Given the description of an element on the screen output the (x, y) to click on. 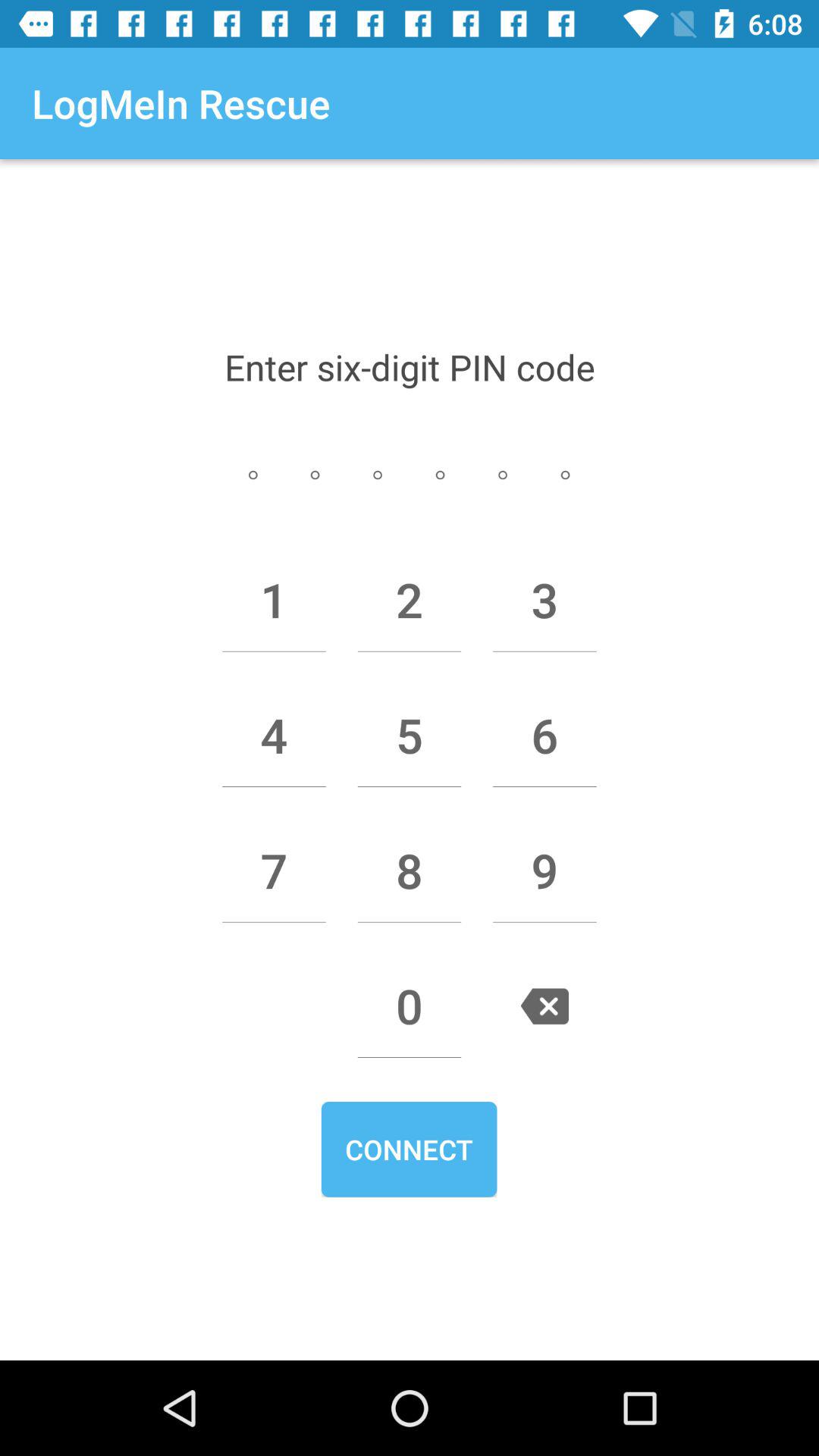
click the icon below the 0 (409, 1149)
